Given the description of an element on the screen output the (x, y) to click on. 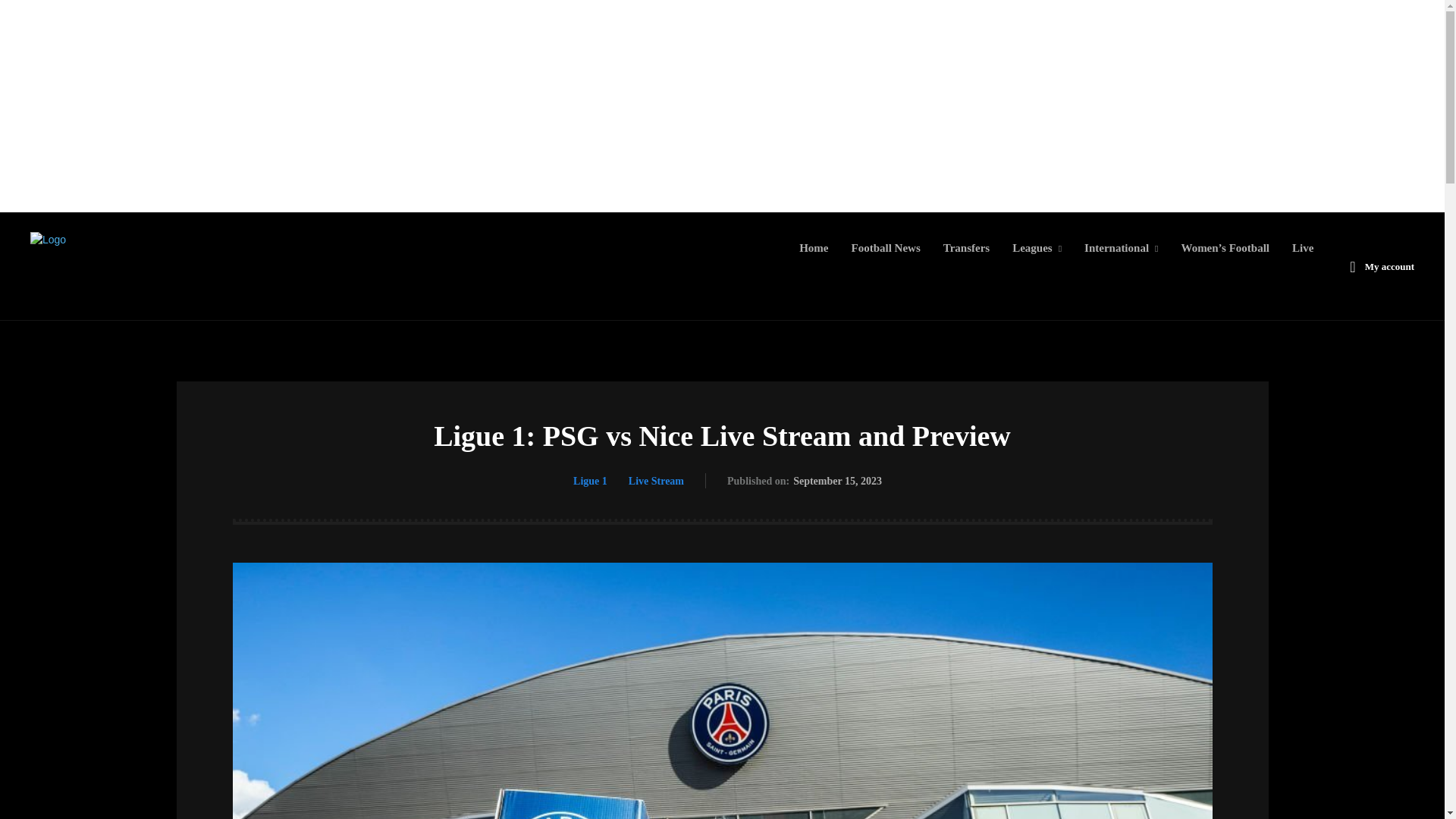
Football News (885, 247)
